Given the description of an element on the screen output the (x, y) to click on. 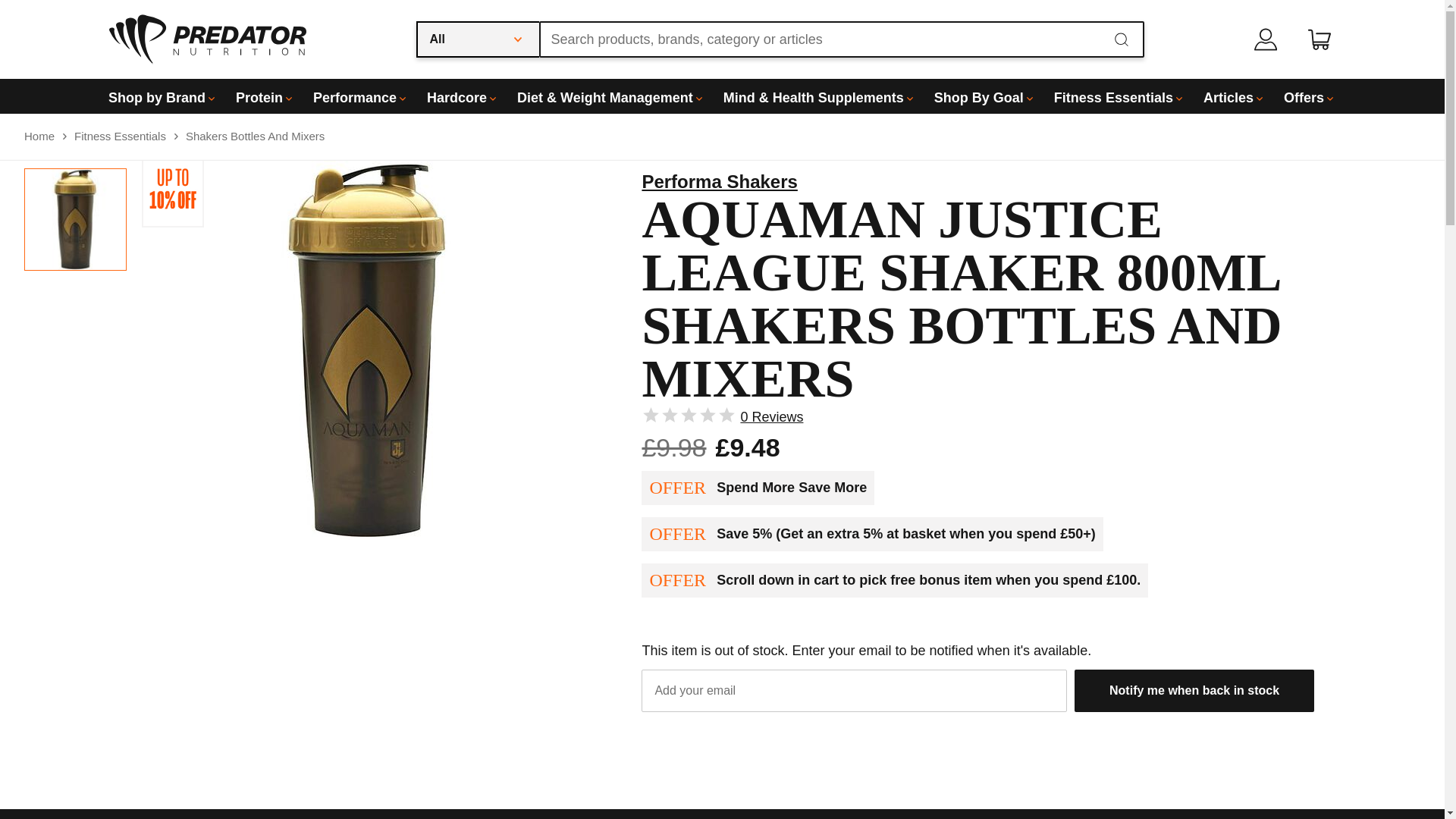
0 Reviews (769, 417)
Shakers Bottles And Mixers (255, 136)
Home (39, 136)
Fitness Essentials (1109, 95)
Performa Shakers (719, 181)
Performance (350, 95)
Notify me when back in stock (1194, 690)
Articles (1223, 95)
Shop By Goal (973, 95)
Protein (254, 95)
Offers (1299, 95)
Hardcore (451, 95)
Aquaman Justice League Shaker 800ml (74, 219)
Fitness Essentials (119, 136)
